Given the description of an element on the screen output the (x, y) to click on. 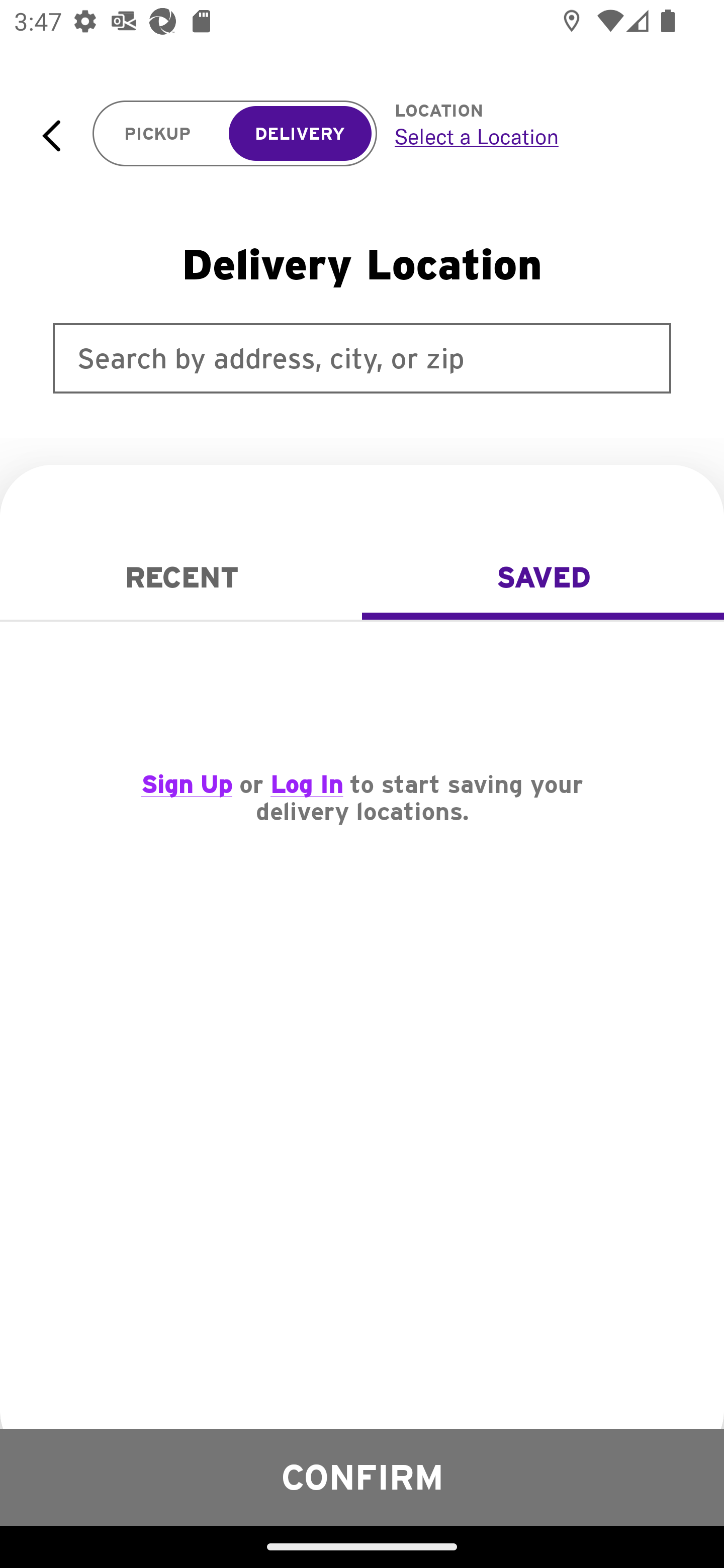
PICKUP (157, 133)
DELIVERY (299, 133)
Select a Location (536, 136)
Search by address, city, or zip (361, 358)
Recent RECENT (181, 576)
CONFIRM (362, 1476)
